Given the description of an element on the screen output the (x, y) to click on. 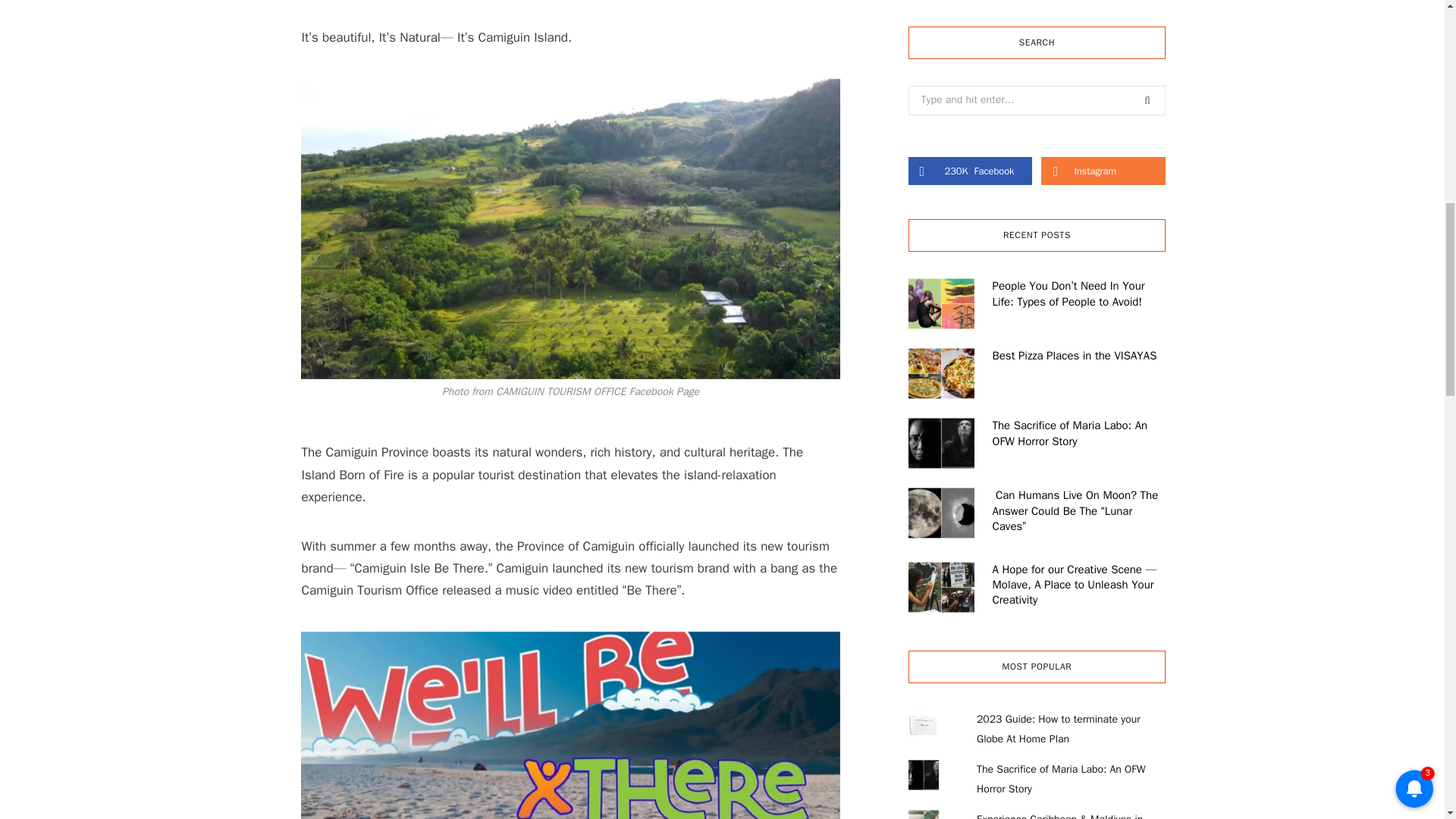
Instagram (970, 171)
